Given the description of an element on the screen output the (x, y) to click on. 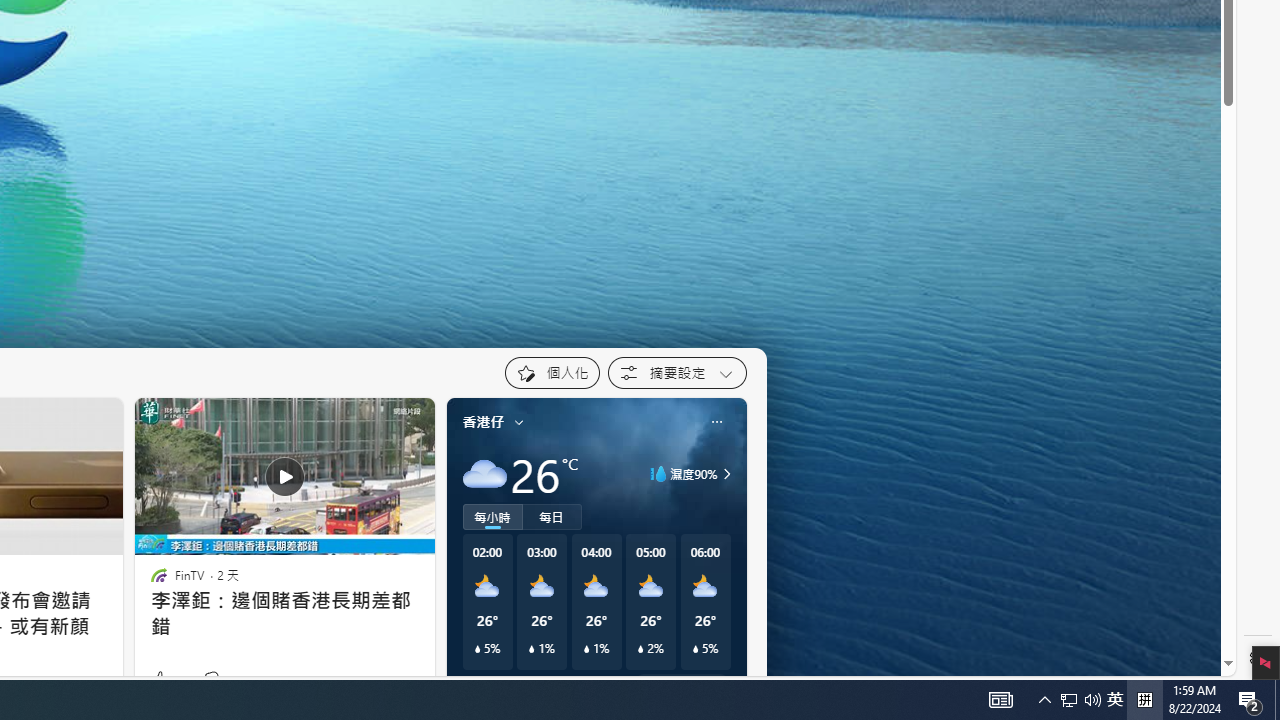
Class: weather-current-precipitation-glyph (695, 649)
